Given the description of an element on the screen output the (x, y) to click on. 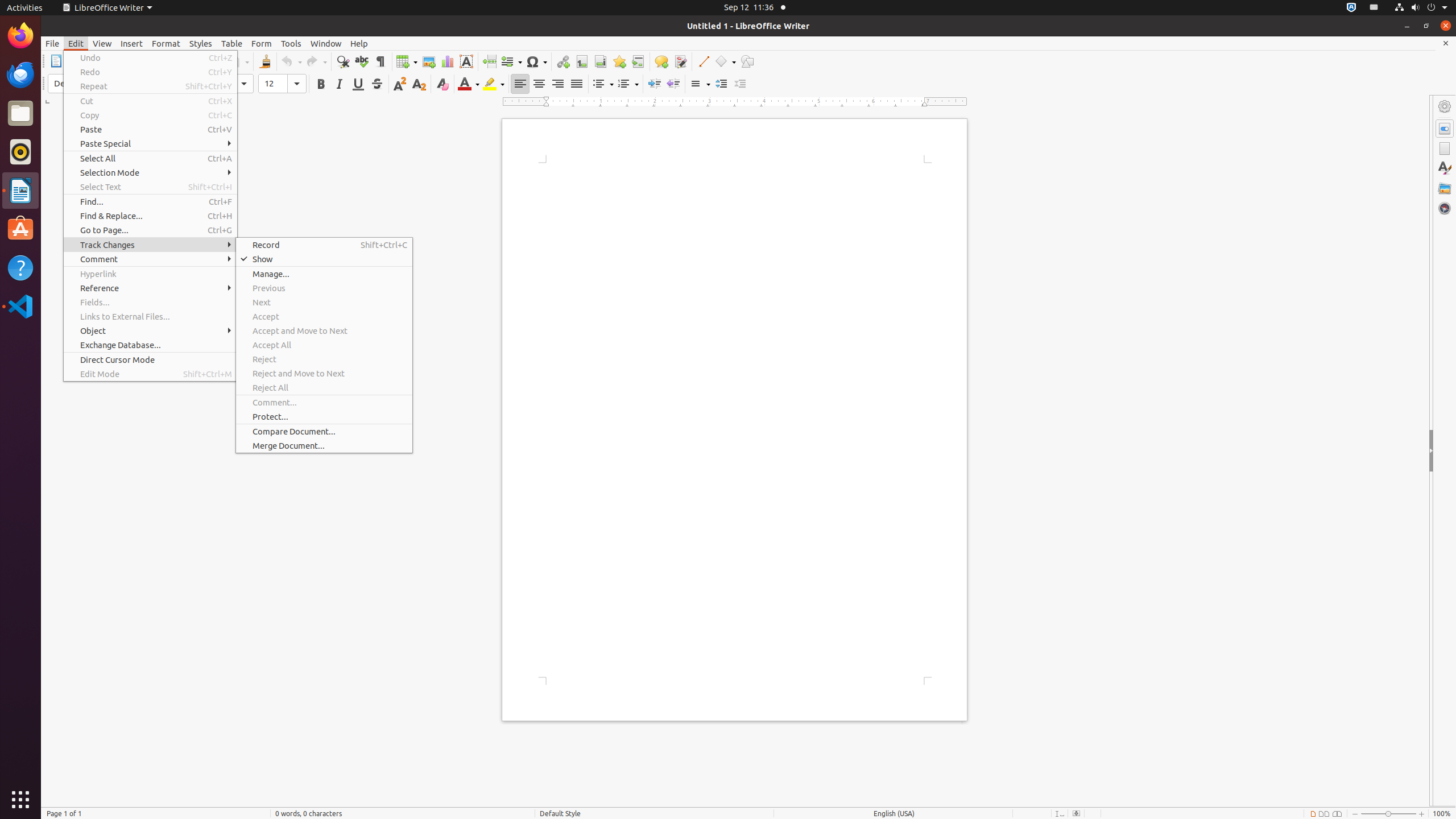
Footnote Element type: push-button (581, 61)
Reject and Move to Next Element type: menu-item (324, 373)
Undo Element type: menu-item (150, 57)
Reject All Element type: menu-item (324, 387)
Decrease Element type: push-button (739, 83)
